Given the description of an element on the screen output the (x, y) to click on. 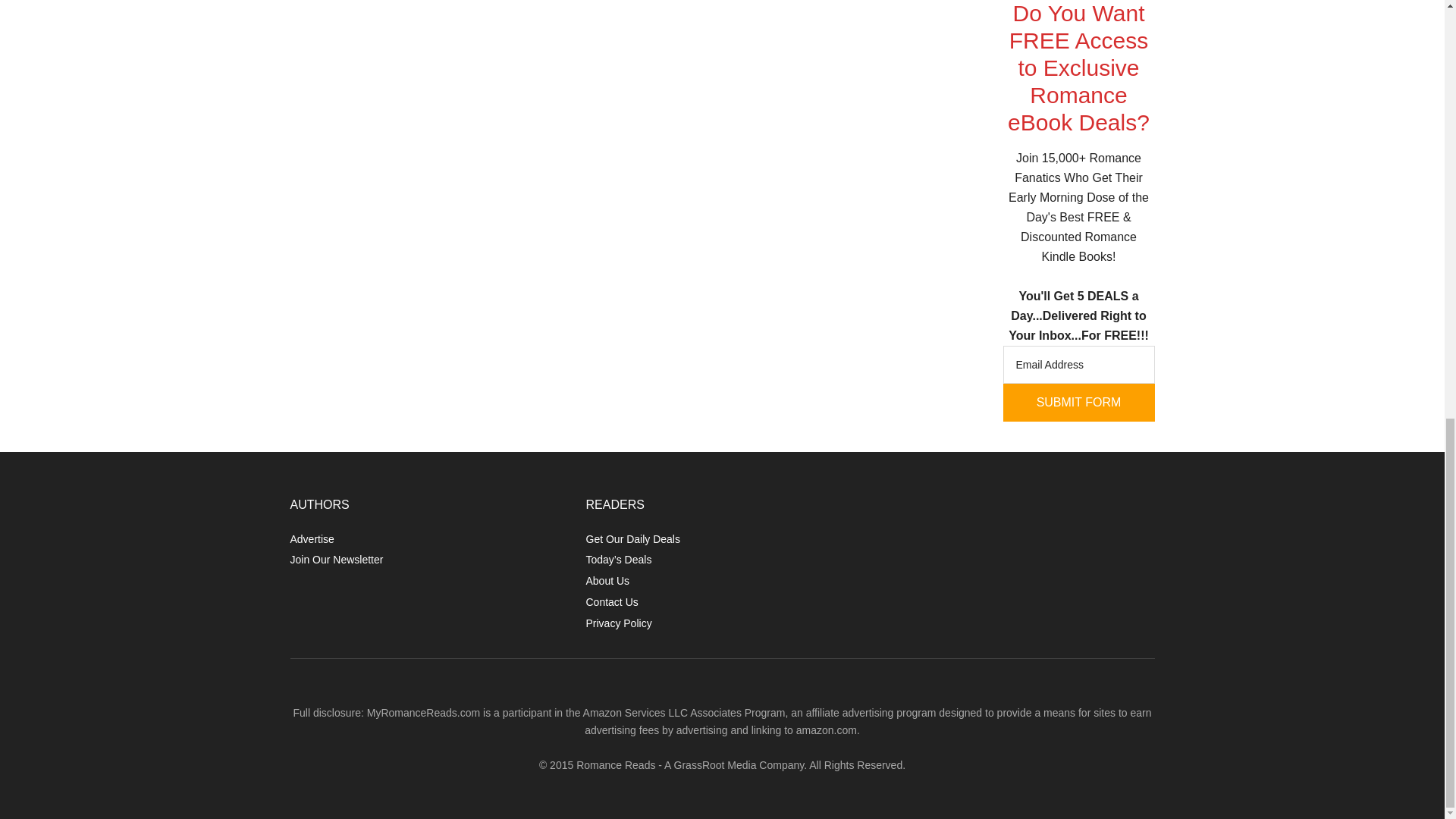
Contact Us (611, 602)
Get Our Daily Deals (632, 539)
About Us (606, 580)
Advertise (311, 539)
SUBMIT FORM (1078, 402)
Join Our Newsletter (335, 559)
